Given the description of an element on the screen output the (x, y) to click on. 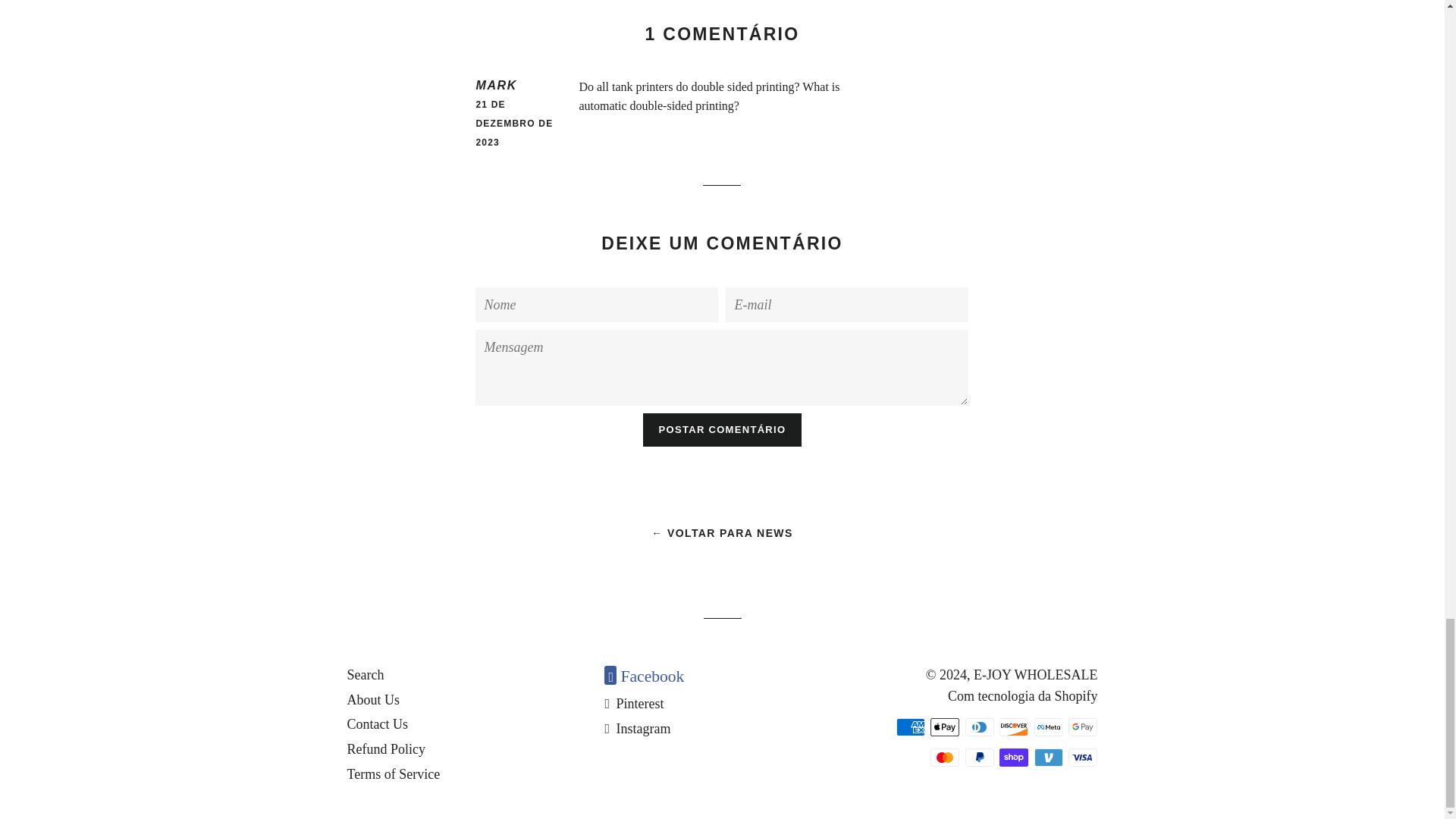
Venmo (1047, 757)
E-JOY WHOLESALE em Pinterest (633, 703)
Mastercard (944, 757)
Apple Pay (944, 727)
American Express (910, 727)
PayPal (979, 757)
Google Pay (1082, 727)
Discover (1012, 727)
Diners Club (979, 727)
E-JOY WHOLESALE em Facebook (644, 676)
Meta Pay (1047, 727)
Visa (1082, 757)
Shop Pay (1012, 757)
E-JOY WHOLESALE em Instagram (636, 728)
